Given the description of an element on the screen output the (x, y) to click on. 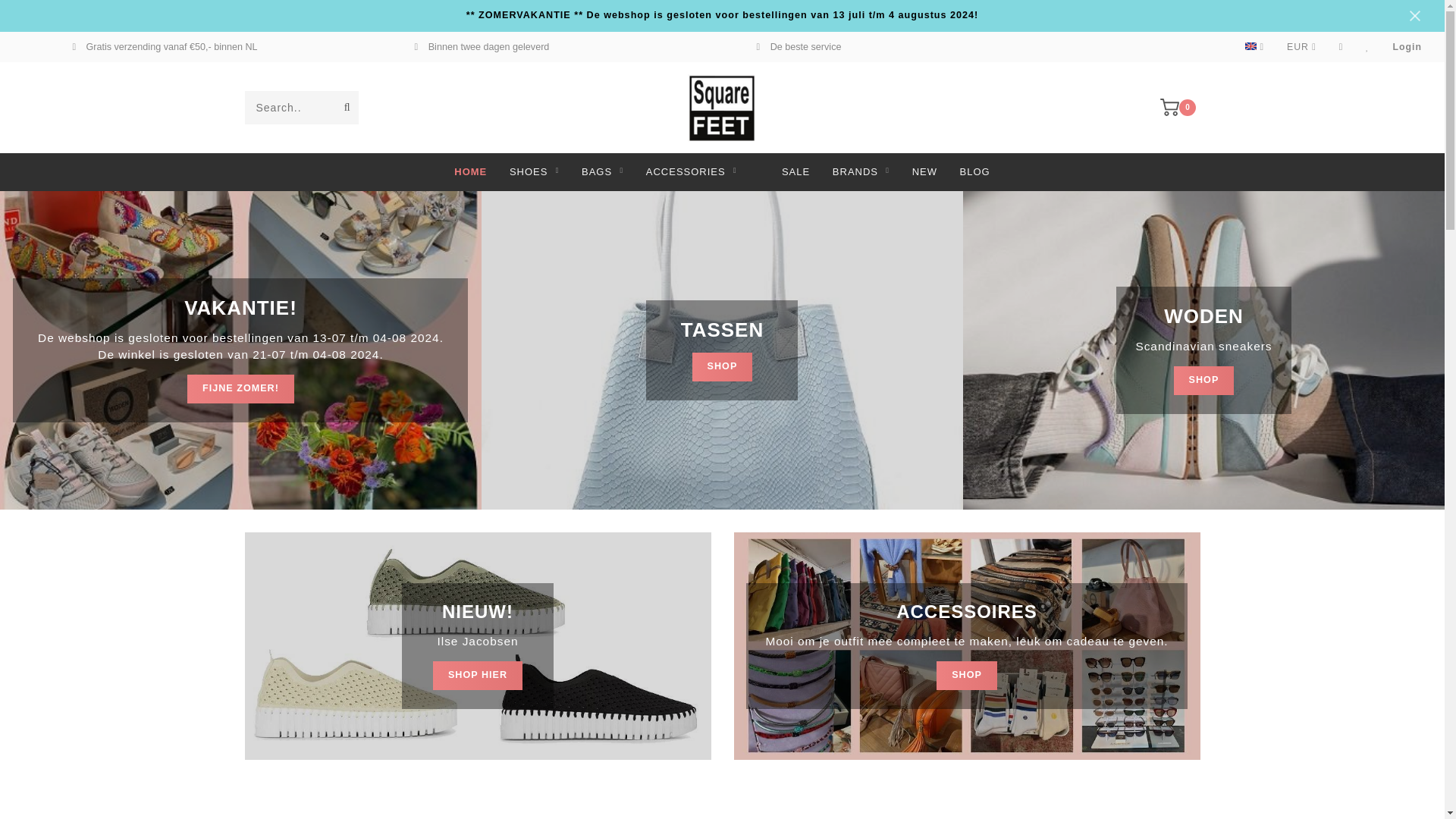
Login (1406, 46)
BAGS (601, 171)
EUR (1301, 46)
Compare (1341, 46)
0 (1179, 105)
HOME (470, 171)
My wishlist (1367, 46)
SHOES (534, 171)
